Given the description of an element on the screen output the (x, y) to click on. 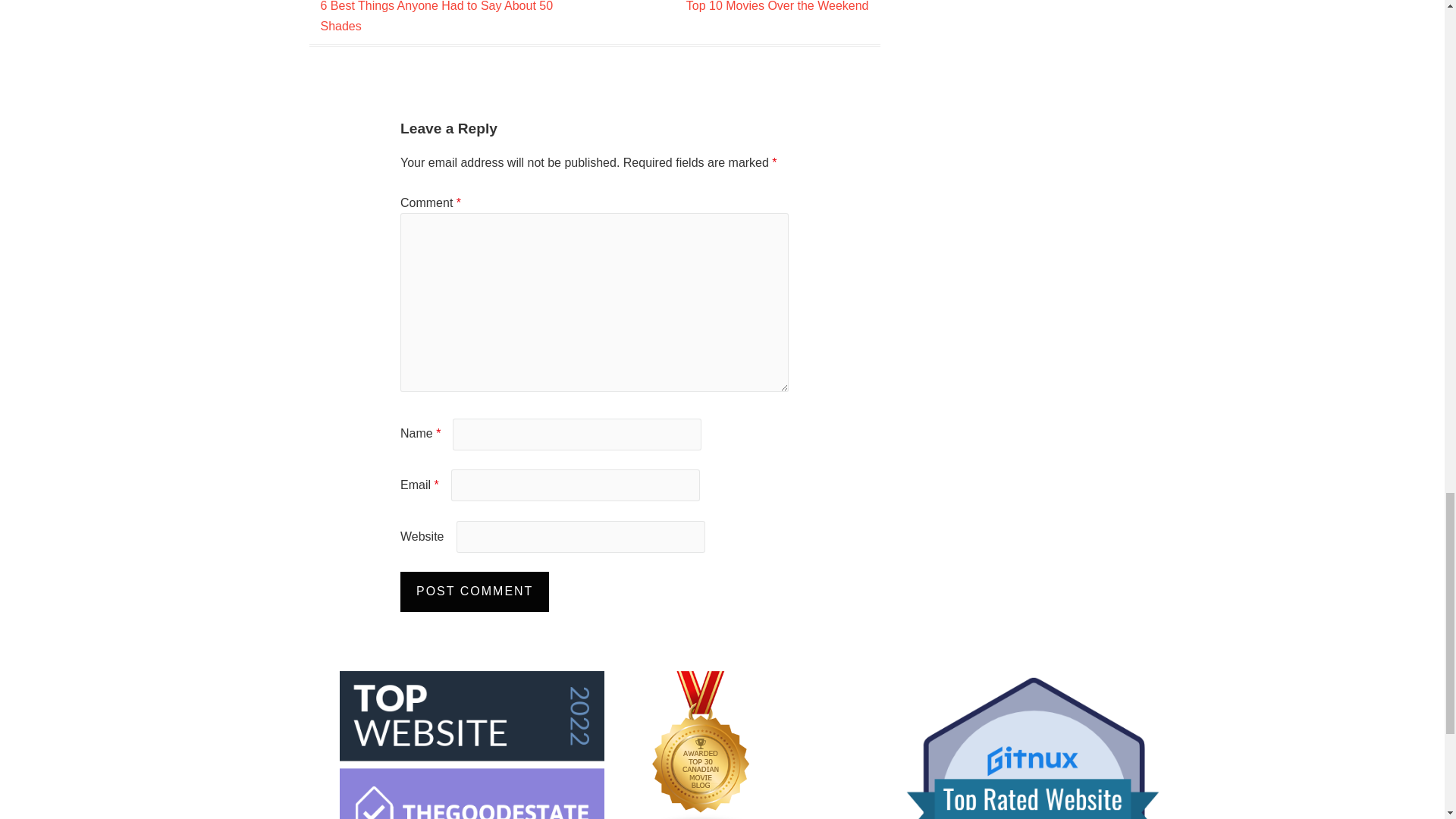
Top 10 Movies Over the Weekend (777, 6)
Post Comment (474, 591)
6 Best Things Anyone Had to Say About 50 Shades (436, 16)
Post Comment (474, 591)
